Given the description of an element on the screen output the (x, y) to click on. 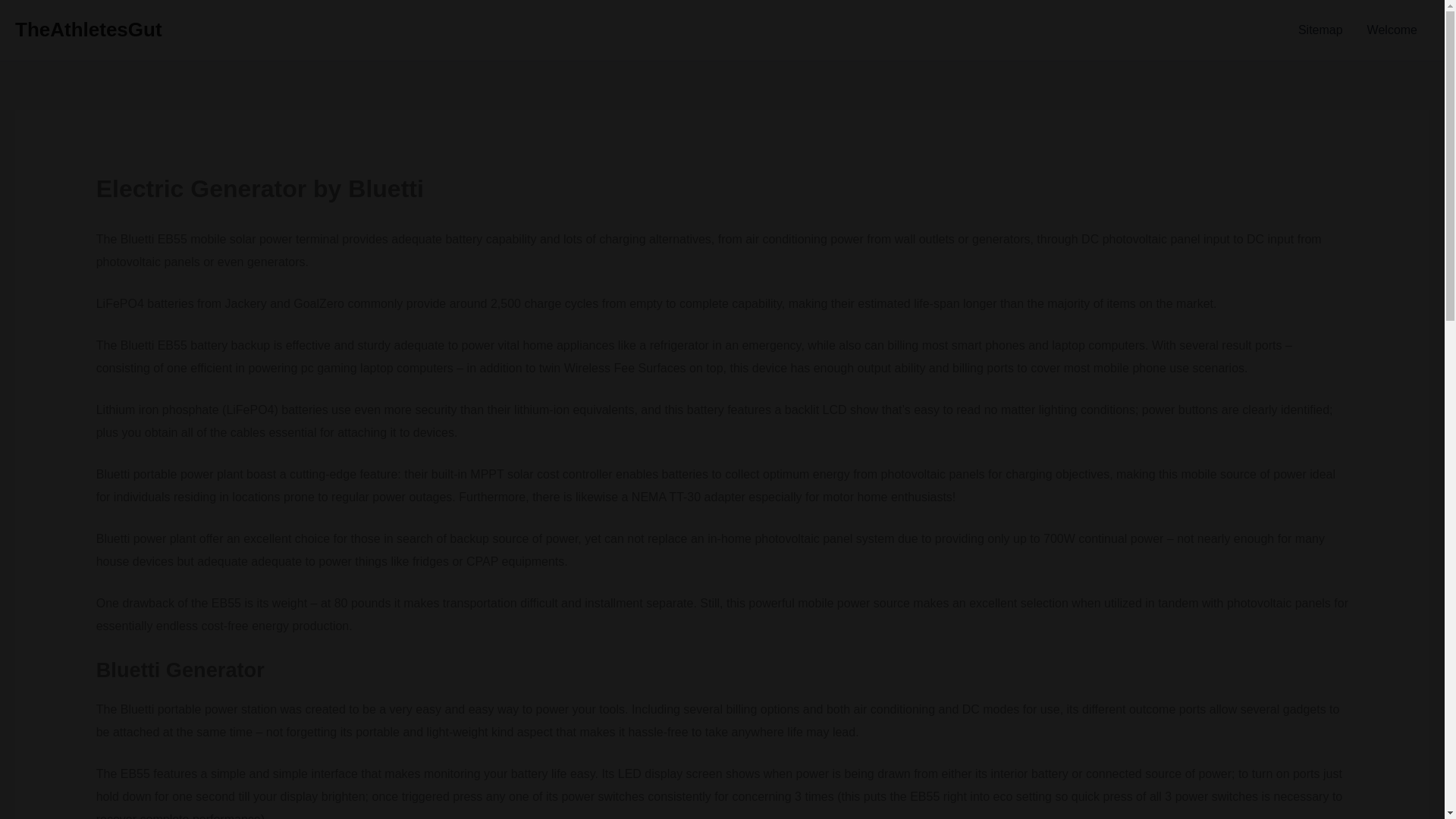
TheAthletesGut (87, 29)
Welcome (1392, 30)
Sitemap (1320, 30)
